Given the description of an element on the screen output the (x, y) to click on. 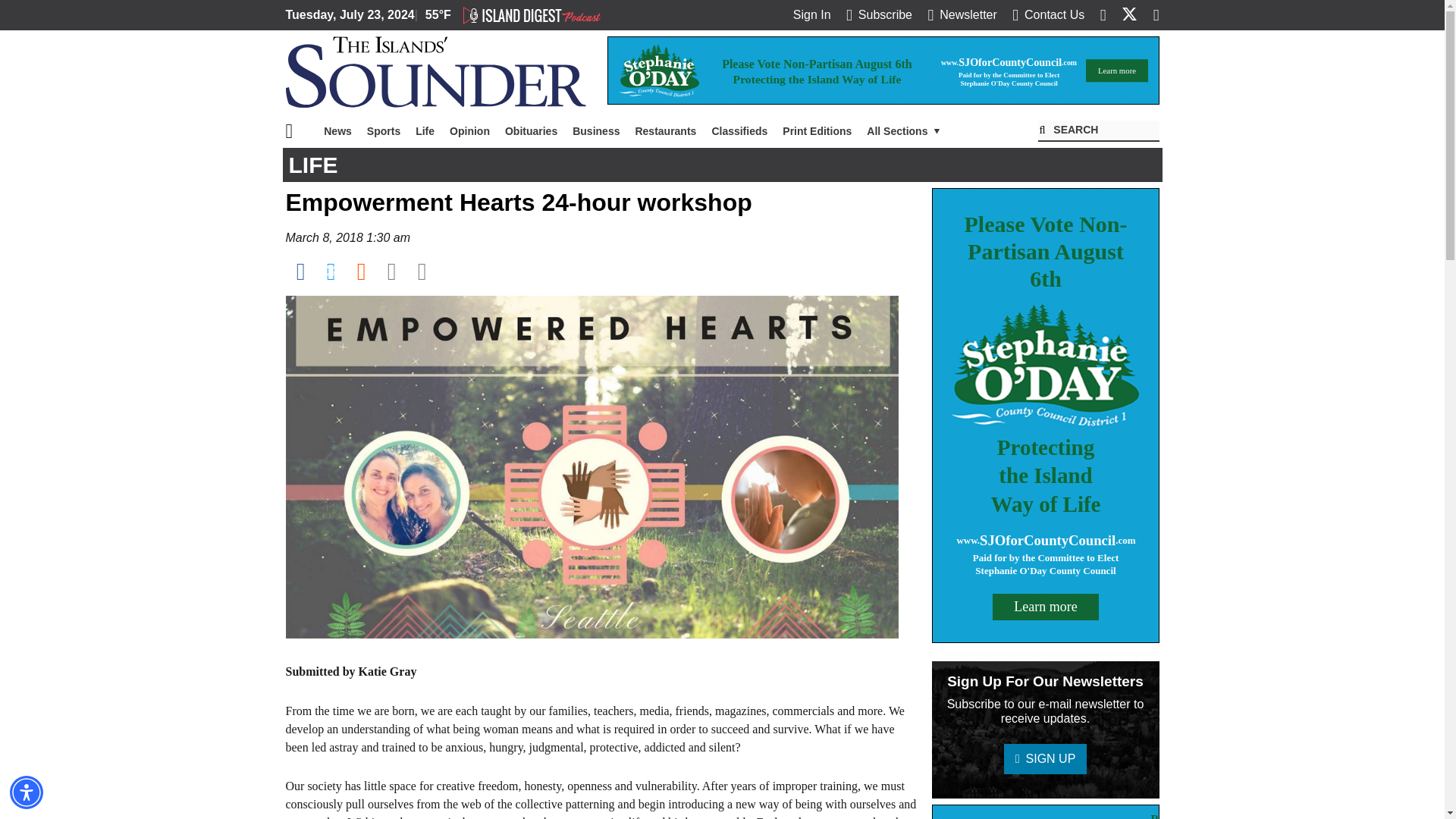
Newsletter (961, 14)
Classifieds (738, 131)
Contact Us (1047, 14)
Business (595, 131)
Life (424, 131)
Restaurants (665, 131)
Email story (390, 271)
Find Us On Twitter (1129, 14)
Accessibility Menu (26, 792)
3rd party ad content (882, 70)
Sports (383, 131)
Post to Reddit (360, 271)
Opinion (469, 131)
News (337, 131)
Sign In (812, 14)
